Given the description of an element on the screen output the (x, y) to click on. 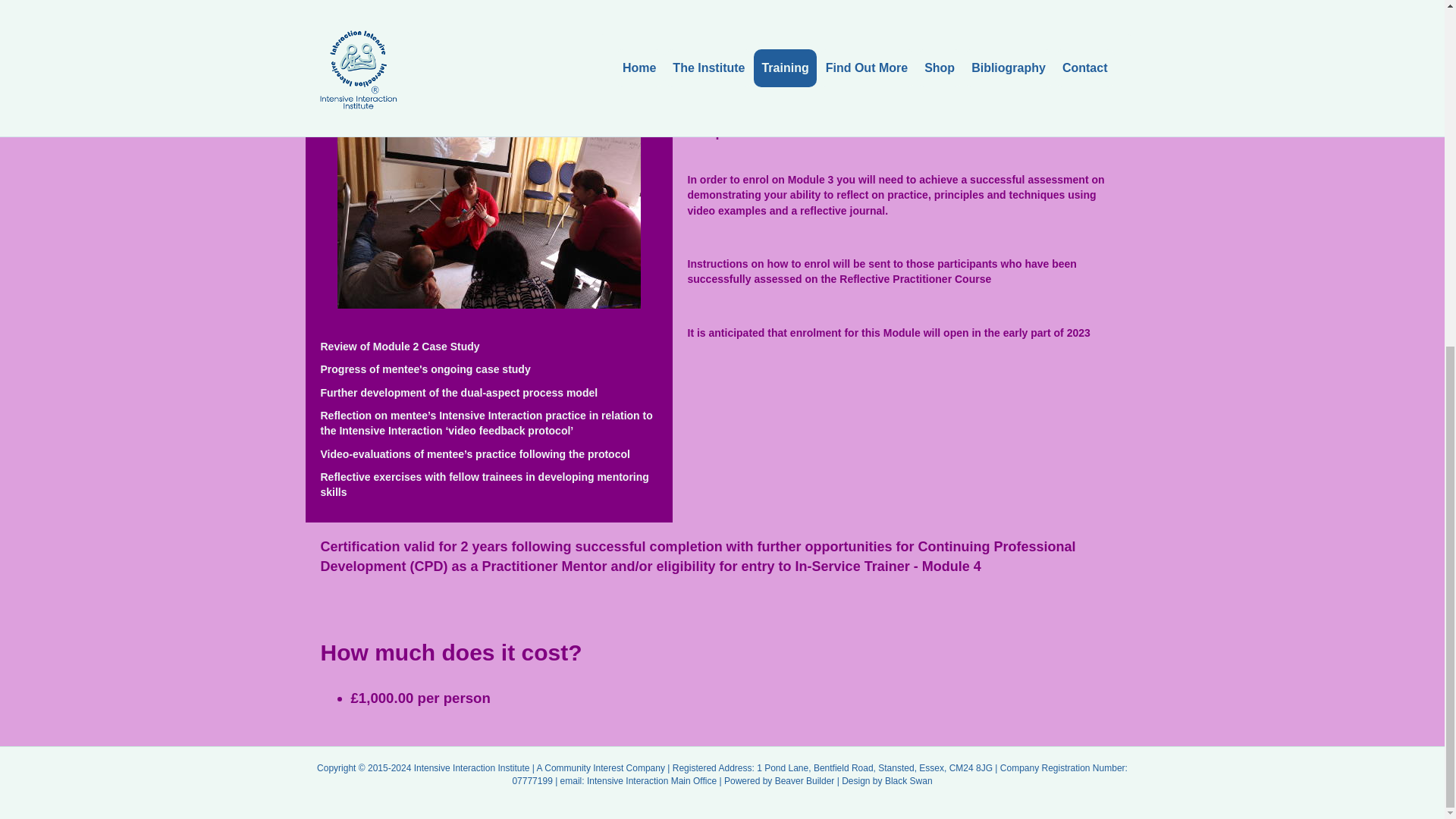
Beaver Builder (804, 780)
Black Swan (909, 780)
10 Coordinators-400x267 (488, 207)
Send an email to the Intensive Interaction Main Office (651, 780)
WordPress Page Builder Plugin (804, 780)
Intensive Interaction Main Office (651, 780)
Black Swan Design (909, 780)
